Given the description of an element on the screen output the (x, y) to click on. 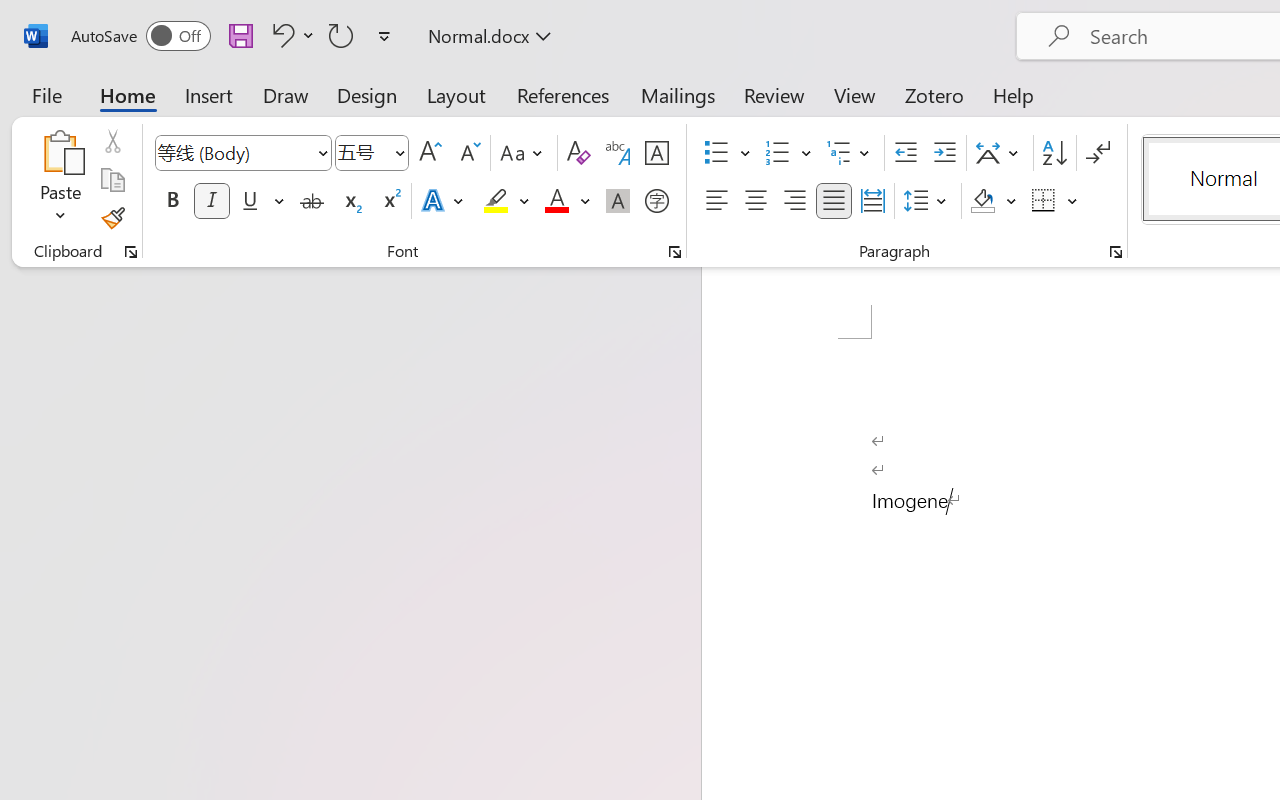
Increase Indent (944, 153)
Line and Paragraph Spacing (927, 201)
Shading RGB(0, 0, 0) (982, 201)
Text Effects and Typography (444, 201)
Subscript (350, 201)
Decrease Indent (906, 153)
Asian Layout (1000, 153)
Font... (675, 252)
Office Clipboard... (131, 252)
